Given the description of an element on the screen output the (x, y) to click on. 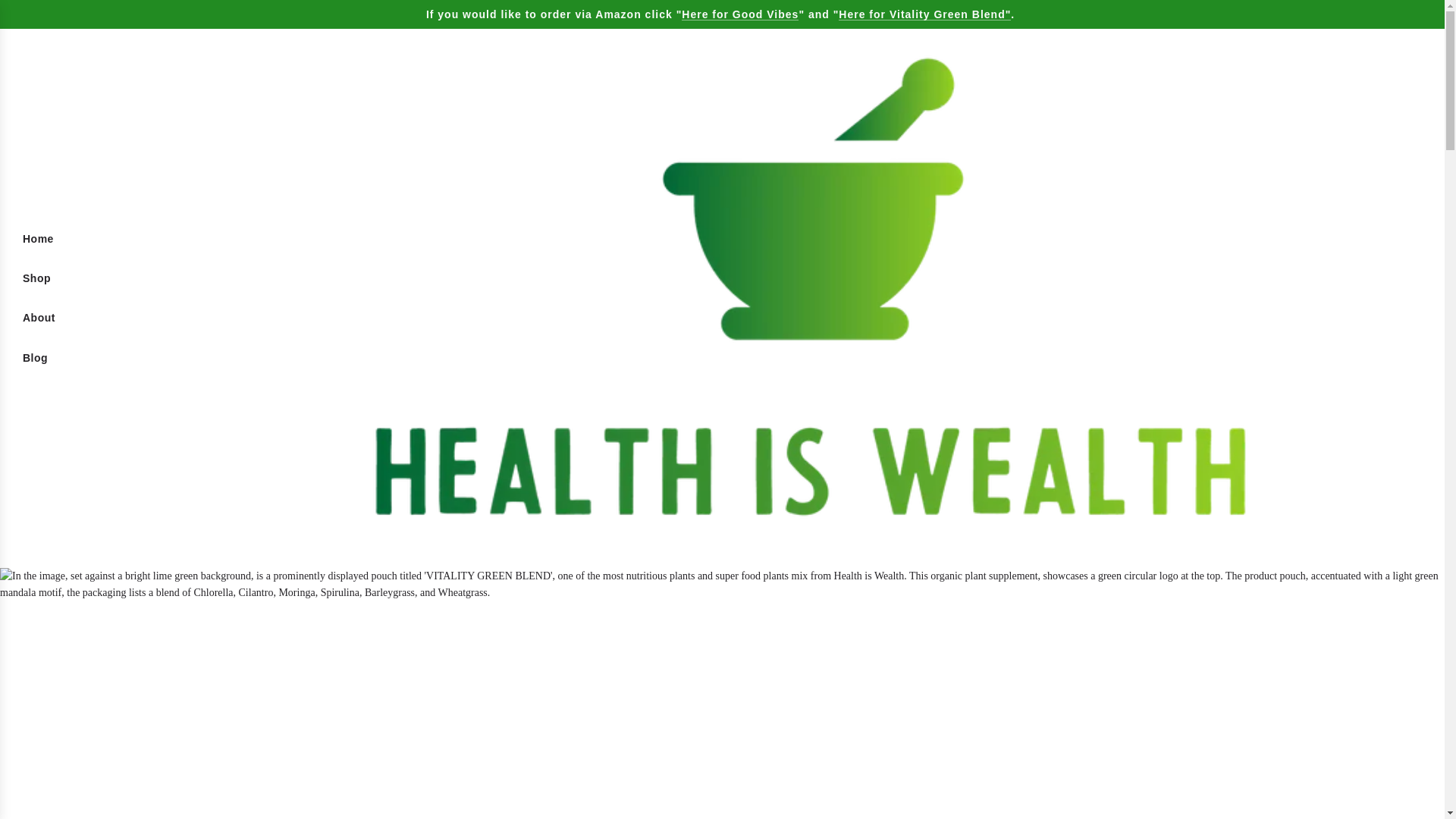
About (38, 317)
Here for Vitality Green Blend" (924, 14)
Blog (35, 357)
Home (38, 238)
Shop (36, 278)
Here for Good Vibes (739, 14)
